Given the description of an element on the screen output the (x, y) to click on. 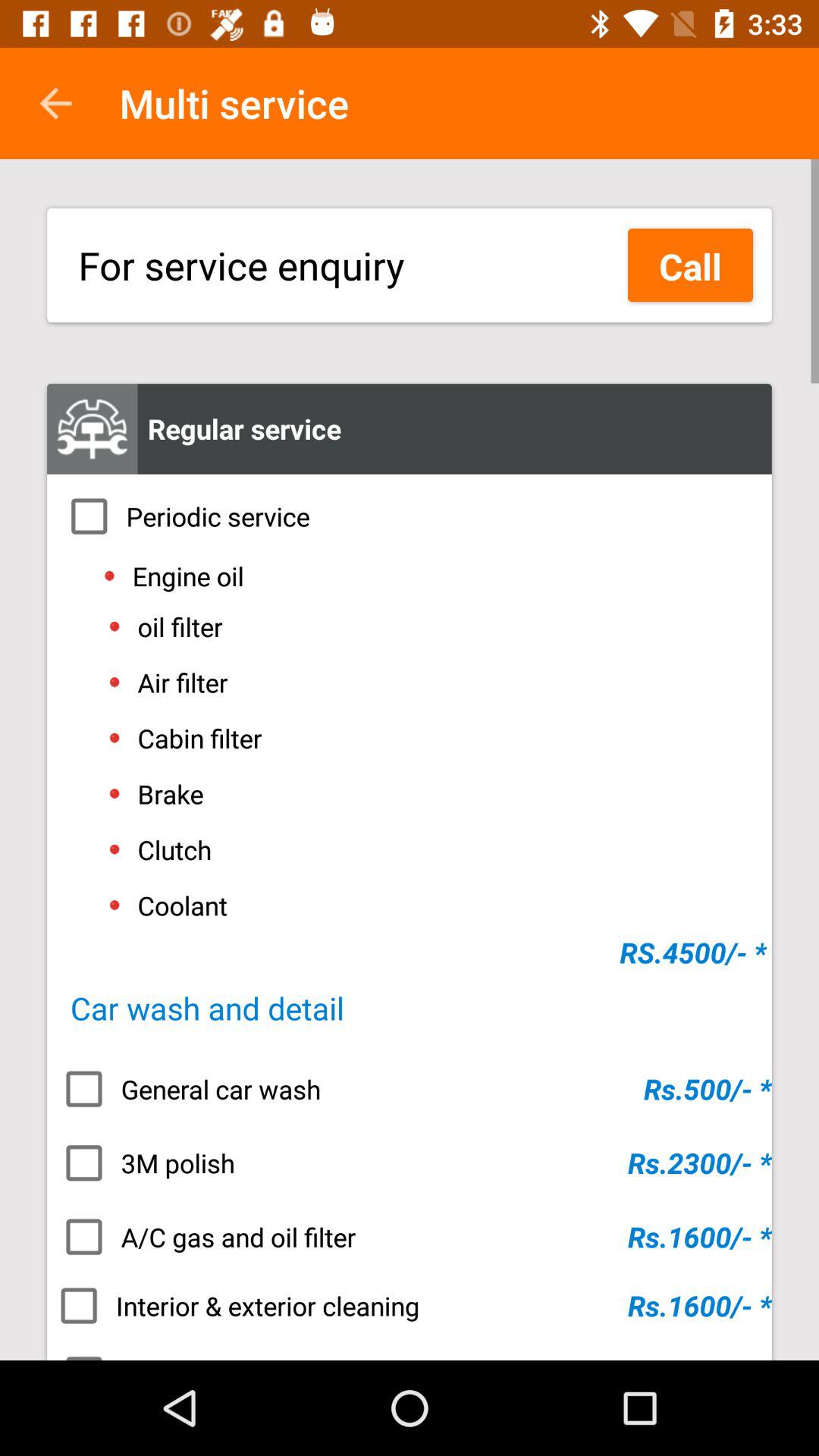
jump to the periodic service icon (409, 516)
